Given the description of an element on the screen output the (x, y) to click on. 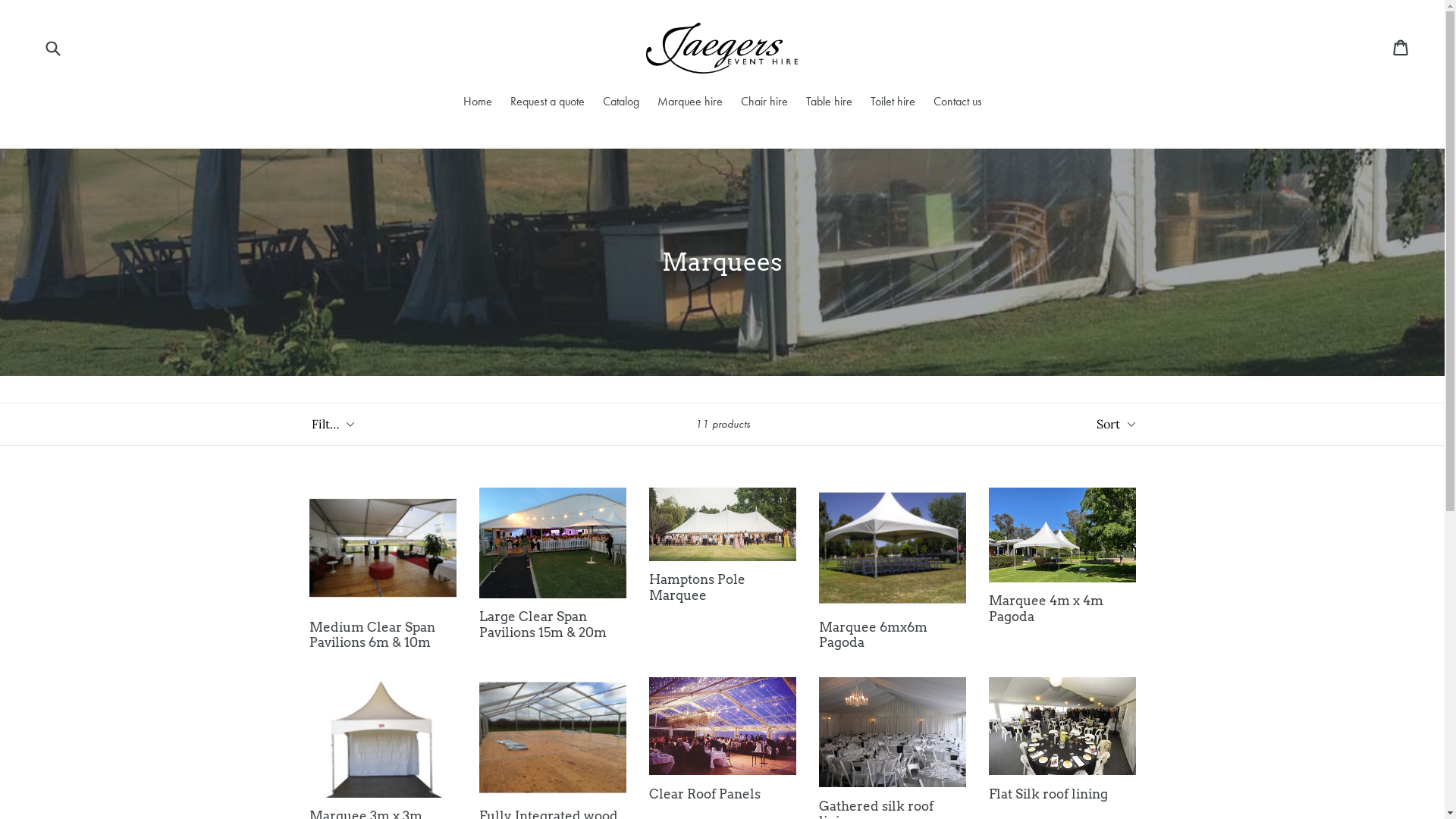
Medium Clear Span Pavilions 6m & 10m Element type: text (382, 568)
Request a quote Element type: text (546, 102)
Flat Silk roof lining Element type: text (1061, 739)
Marquee 6mx6m Pagoda Element type: text (892, 568)
Catalog Element type: text (620, 102)
Large Clear Span Pavilions 15m & 20m Element type: text (552, 563)
Contact us Element type: text (956, 102)
Clear Roof Panels Element type: text (722, 739)
Submit Element type: text (51, 47)
Home Element type: text (476, 102)
Toilet hire Element type: text (892, 102)
Hamptons Pole Marquee Element type: text (722, 544)
Chair hire Element type: text (763, 102)
Cart
Cart Element type: text (1401, 47)
Marquee 4m x 4m Pagoda Element type: text (1061, 555)
Marquee hire Element type: text (689, 102)
Table hire Element type: text (828, 102)
